Given the description of an element on the screen output the (x, y) to click on. 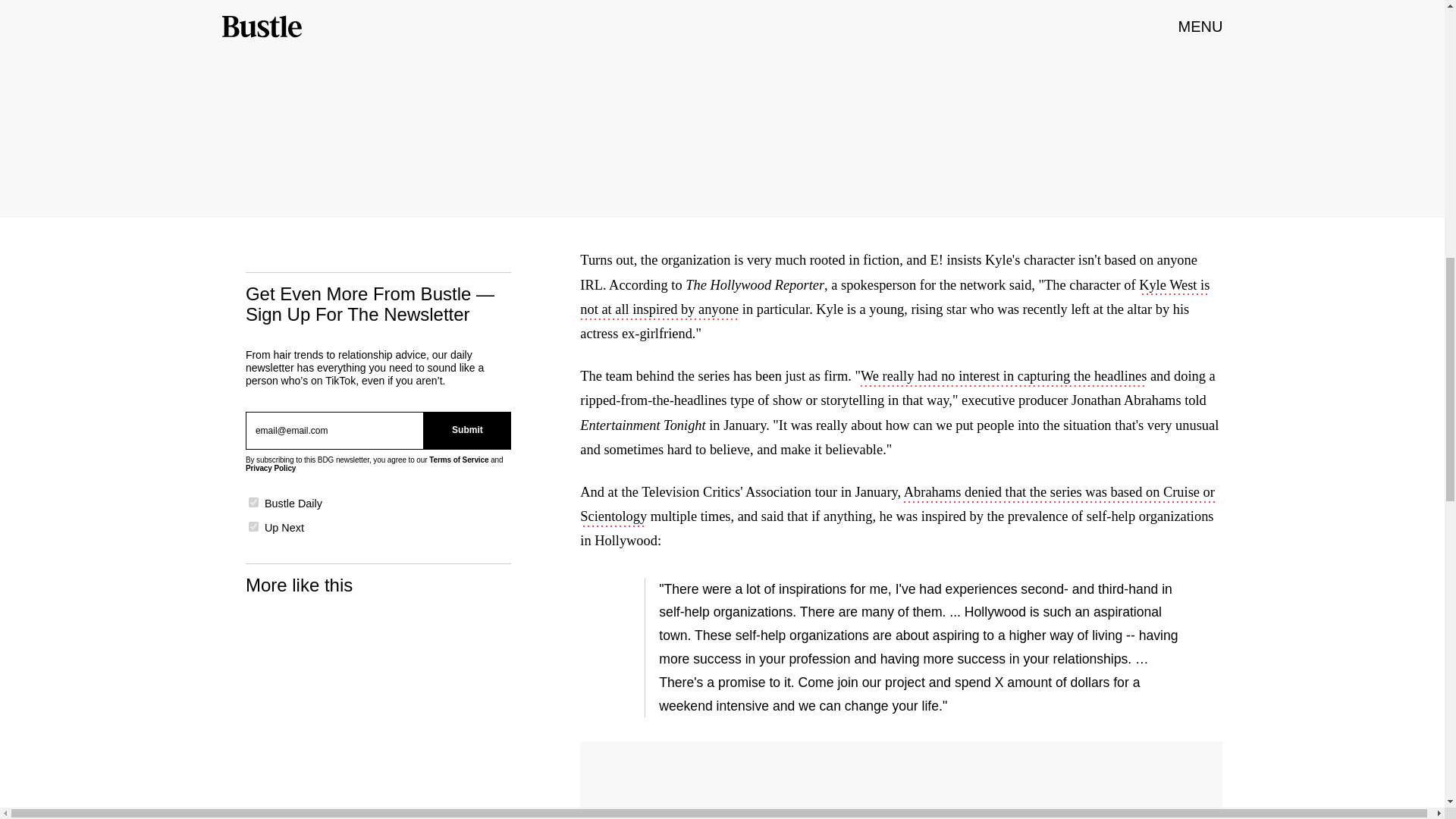
Privacy Policy (270, 468)
Submit (467, 430)
Terms of Service (458, 459)
We really had no interest in capturing the headlines (1003, 377)
Kyle West is not at all inspired by anyone (894, 298)
